Given the description of an element on the screen output the (x, y) to click on. 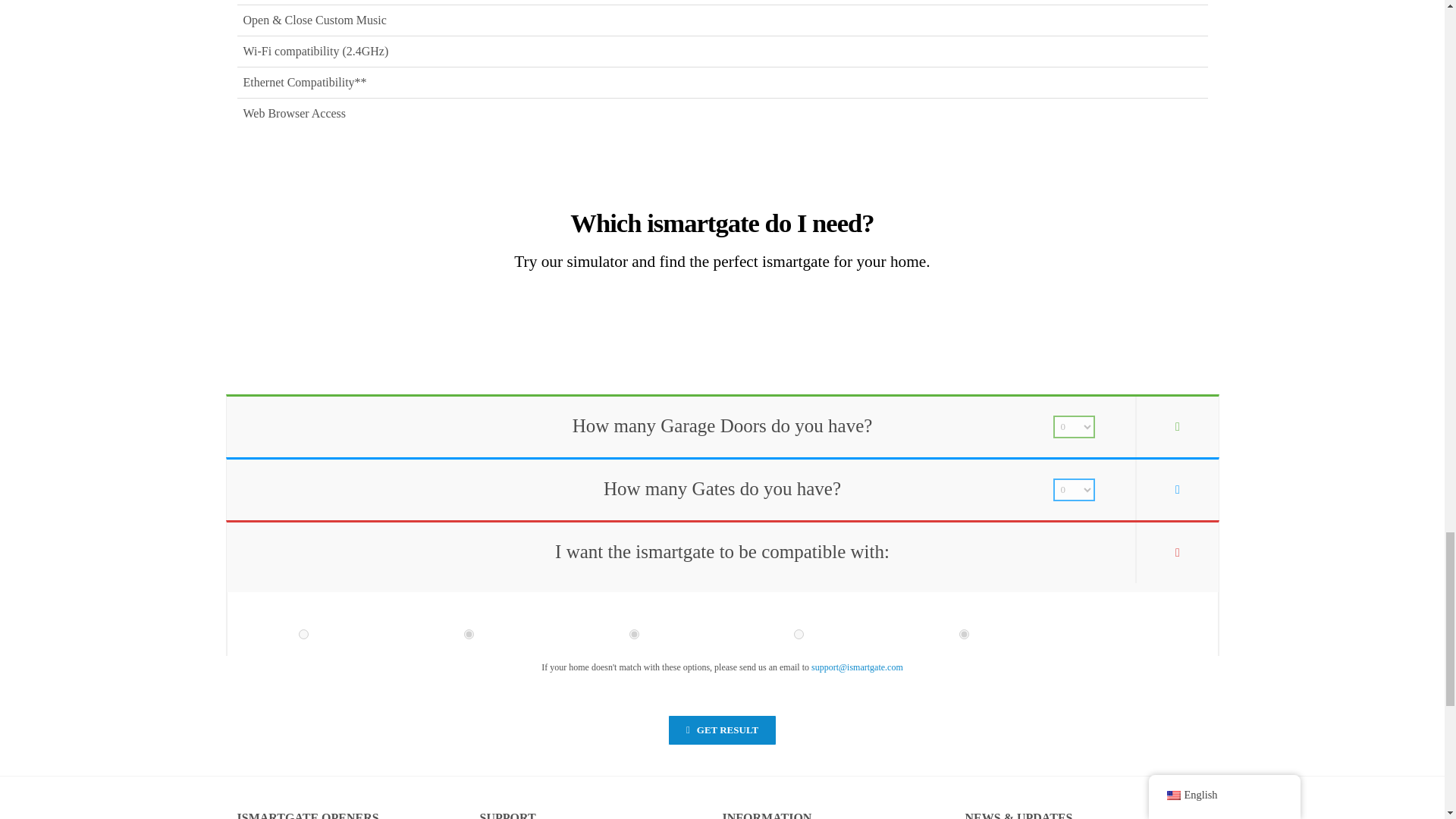
0 (303, 634)
1 (964, 634)
0 (798, 634)
Which iSmartgate garage door opener do I need? (348, 295)
1 (633, 634)
1 (469, 634)
